Given the description of an element on the screen output the (x, y) to click on. 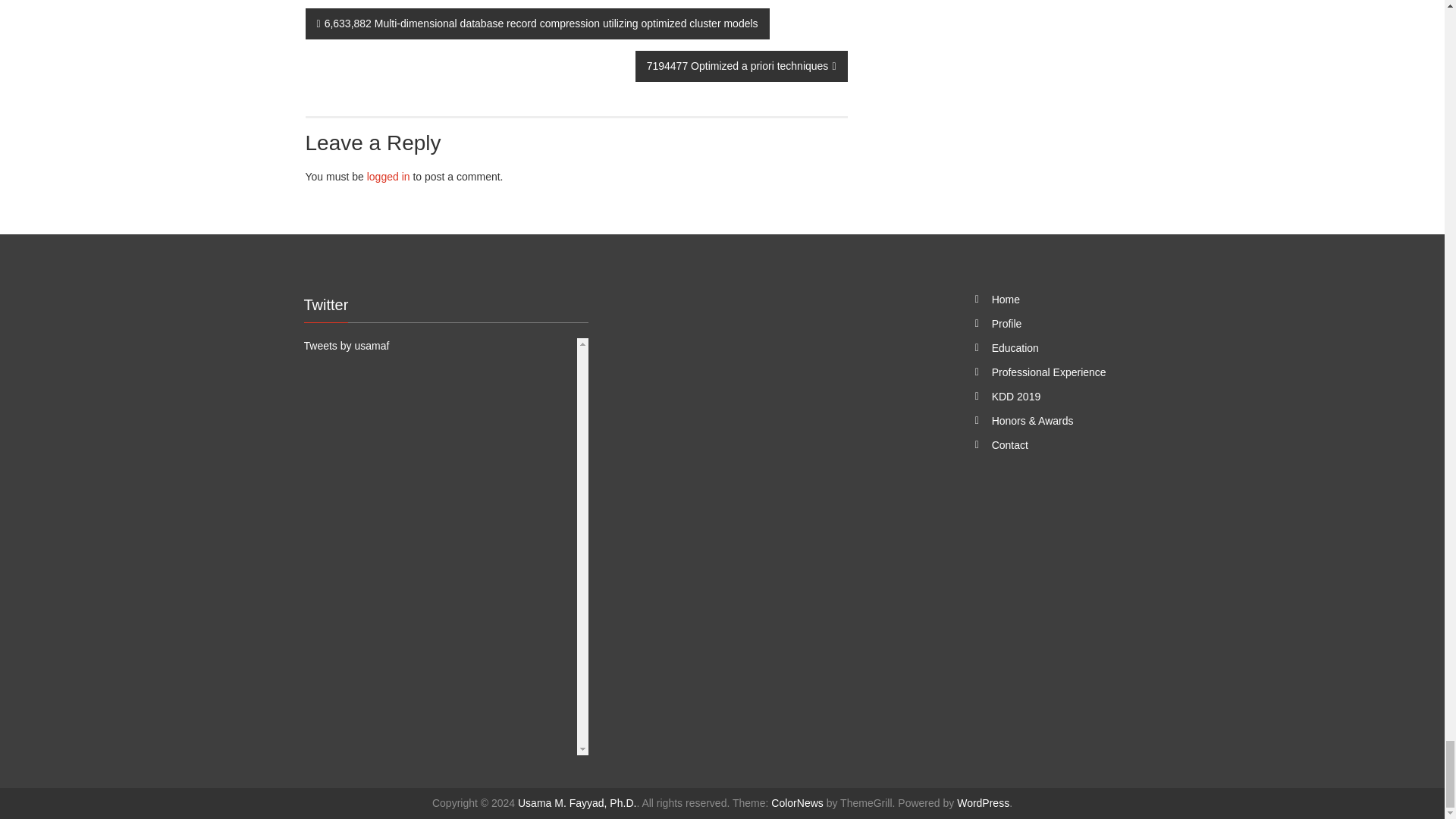
WordPress (982, 802)
ColorNews (796, 802)
Usama M. Fayyad, Ph.D. (577, 802)
